Given the description of an element on the screen output the (x, y) to click on. 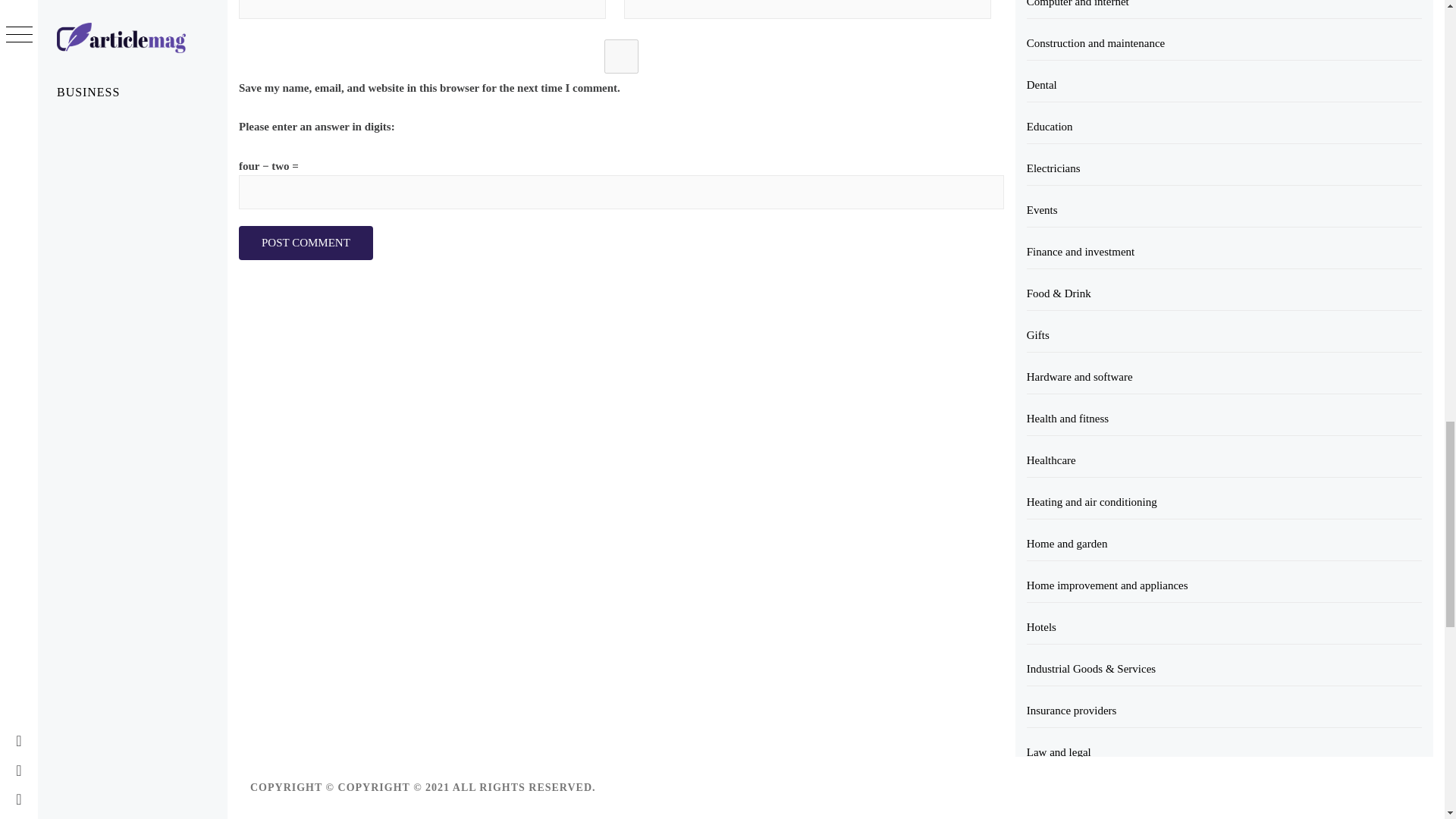
Post Comment (305, 243)
Post Comment (305, 243)
yes (621, 56)
